Given the description of an element on the screen output the (x, y) to click on. 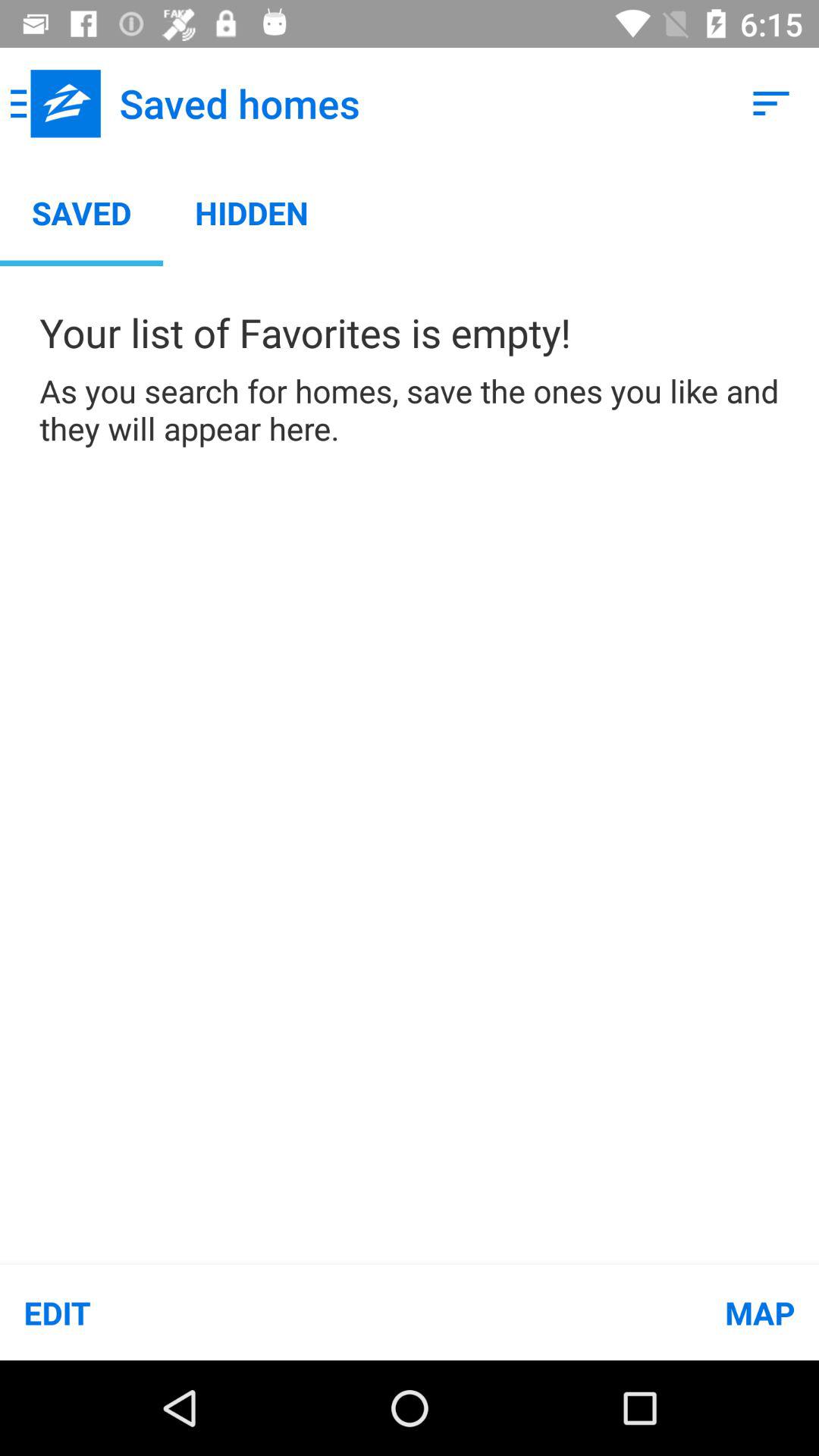
open icon above the saved app (55, 103)
